Given the description of an element on the screen output the (x, y) to click on. 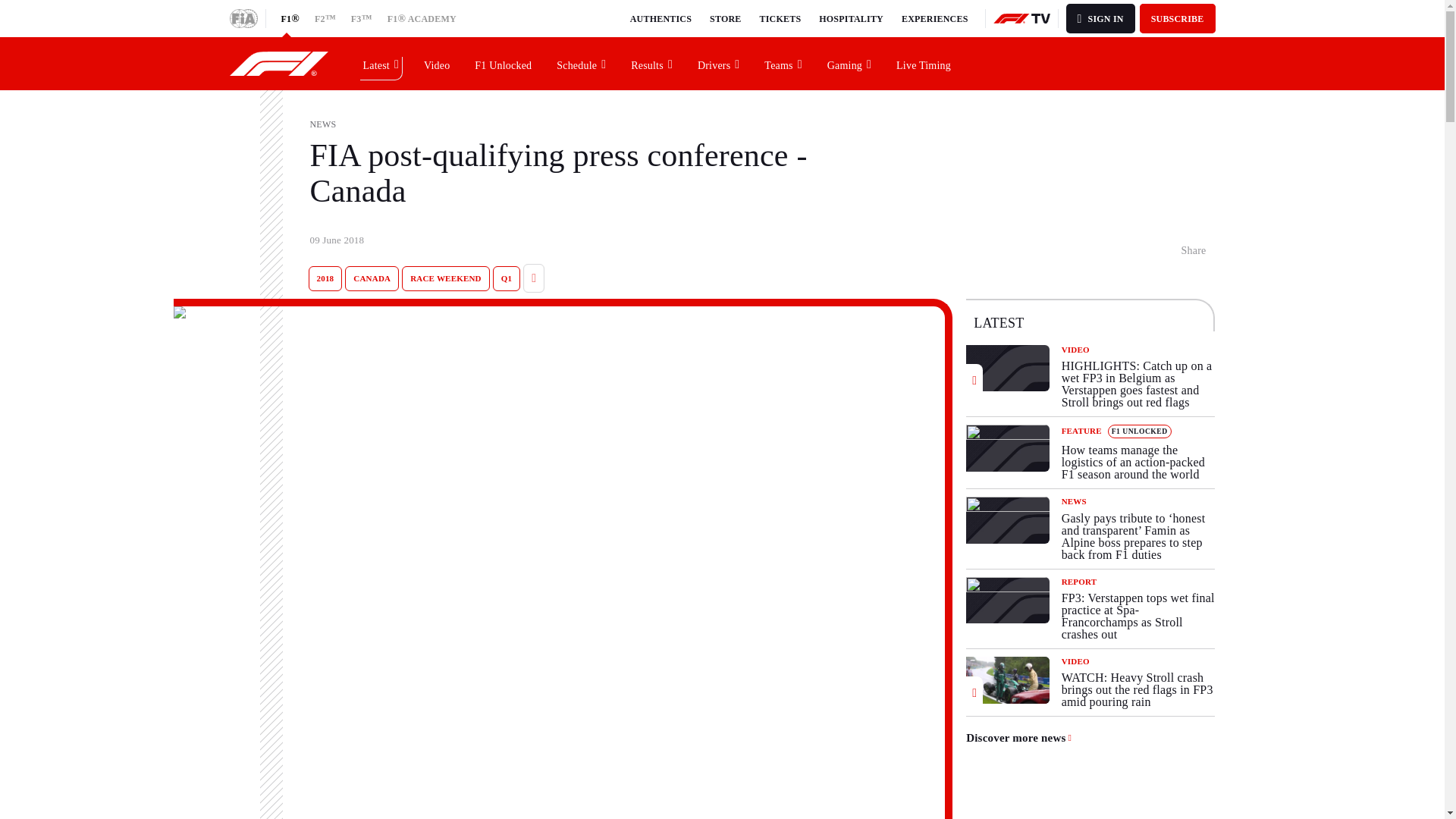
CANADA (371, 278)
SIGN IN (1100, 18)
EXPERIENCES (934, 18)
STORE (725, 18)
Live Timing (923, 63)
Schedule (581, 63)
Teams (782, 63)
Gaming (849, 63)
Q1 (506, 278)
AUTHENTICS (660, 18)
F1 Unlocked (503, 63)
RACE WEEKEND (445, 278)
TICKETS (781, 18)
Results (651, 63)
